Given the description of an element on the screen output the (x, y) to click on. 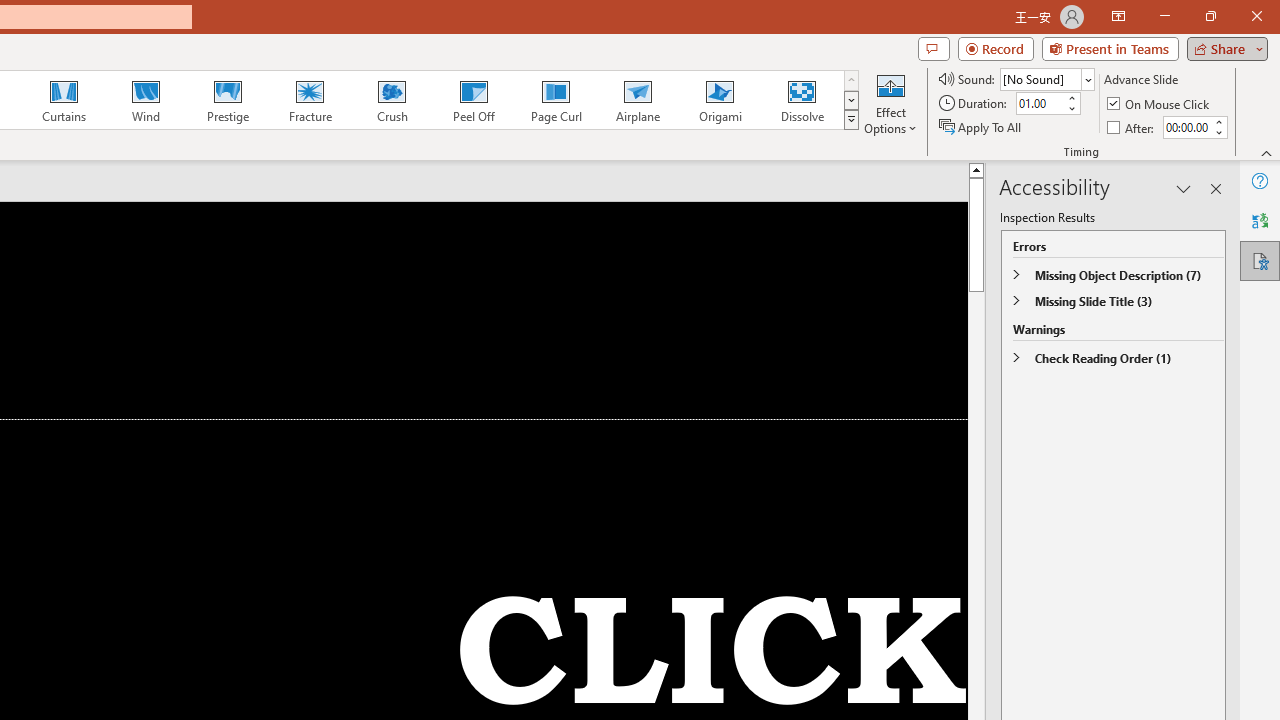
Transition Effects (850, 120)
Crush (391, 100)
Dissolve (802, 100)
Prestige (227, 100)
Peel Off (473, 100)
Duration (1039, 103)
On Mouse Click (1159, 103)
